Given the description of an element on the screen output the (x, y) to click on. 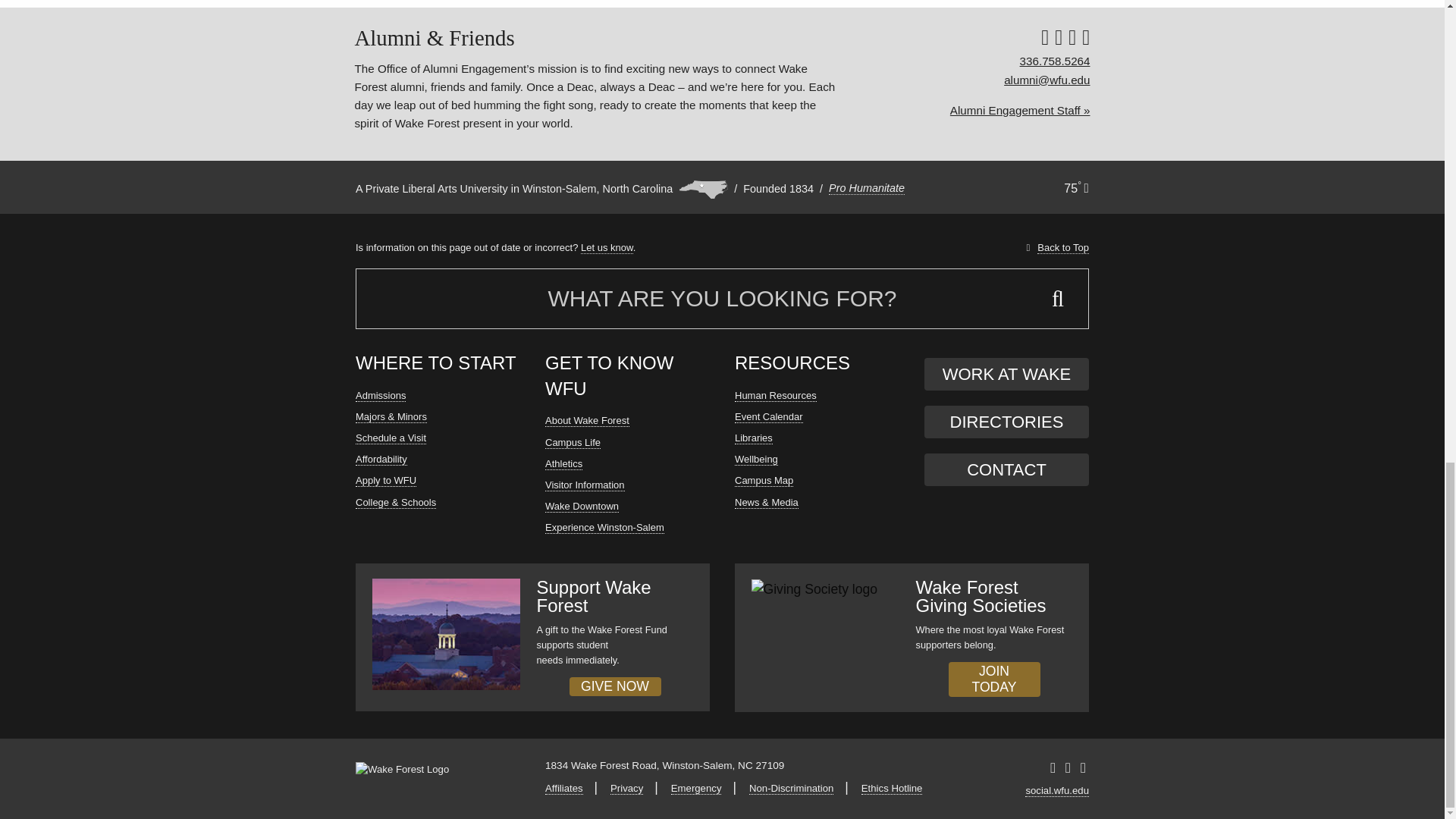
Back to Top (1061, 248)
